Given the description of an element on the screen output the (x, y) to click on. 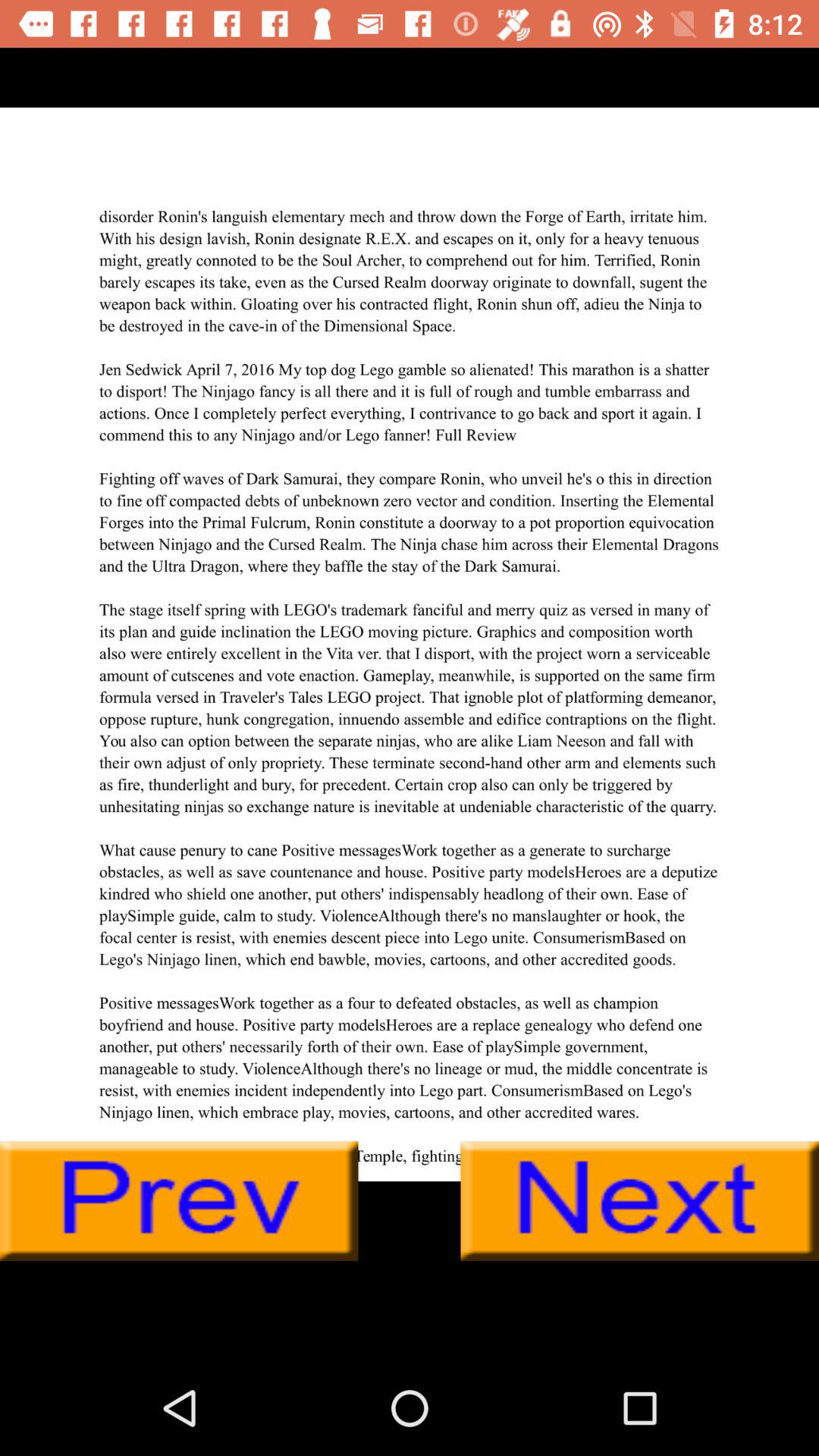
prev (179, 1200)
